Given the description of an element on the screen output the (x, y) to click on. 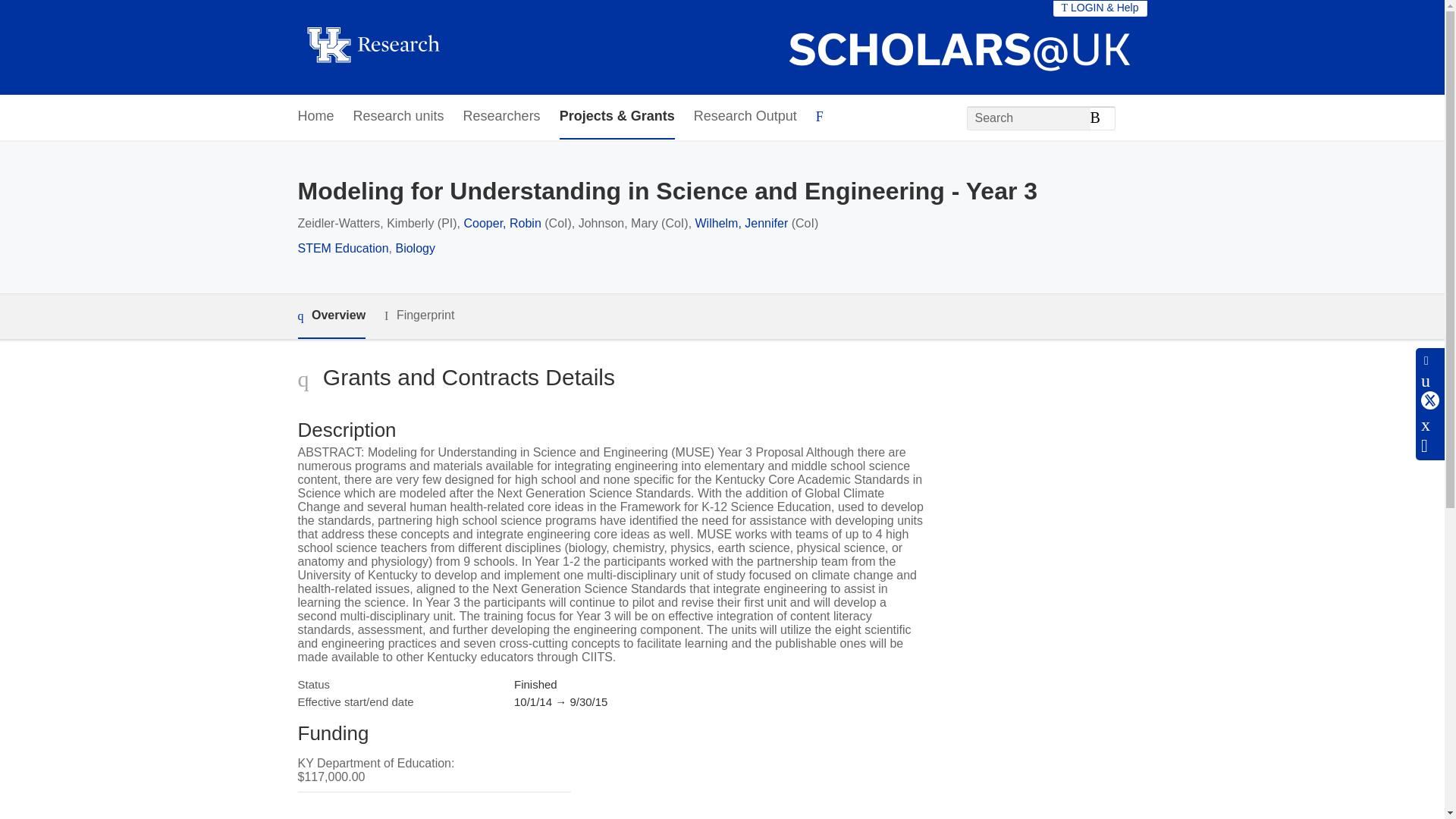
Fingerprint (419, 315)
Research units (398, 117)
STEM Education (342, 247)
Cooper, Robin (502, 223)
Research Output (745, 117)
Researchers (501, 117)
Wilhelm, Jennifer (742, 223)
Overview (331, 316)
University of Kentucky Home (372, 47)
